Given the description of an element on the screen output the (x, y) to click on. 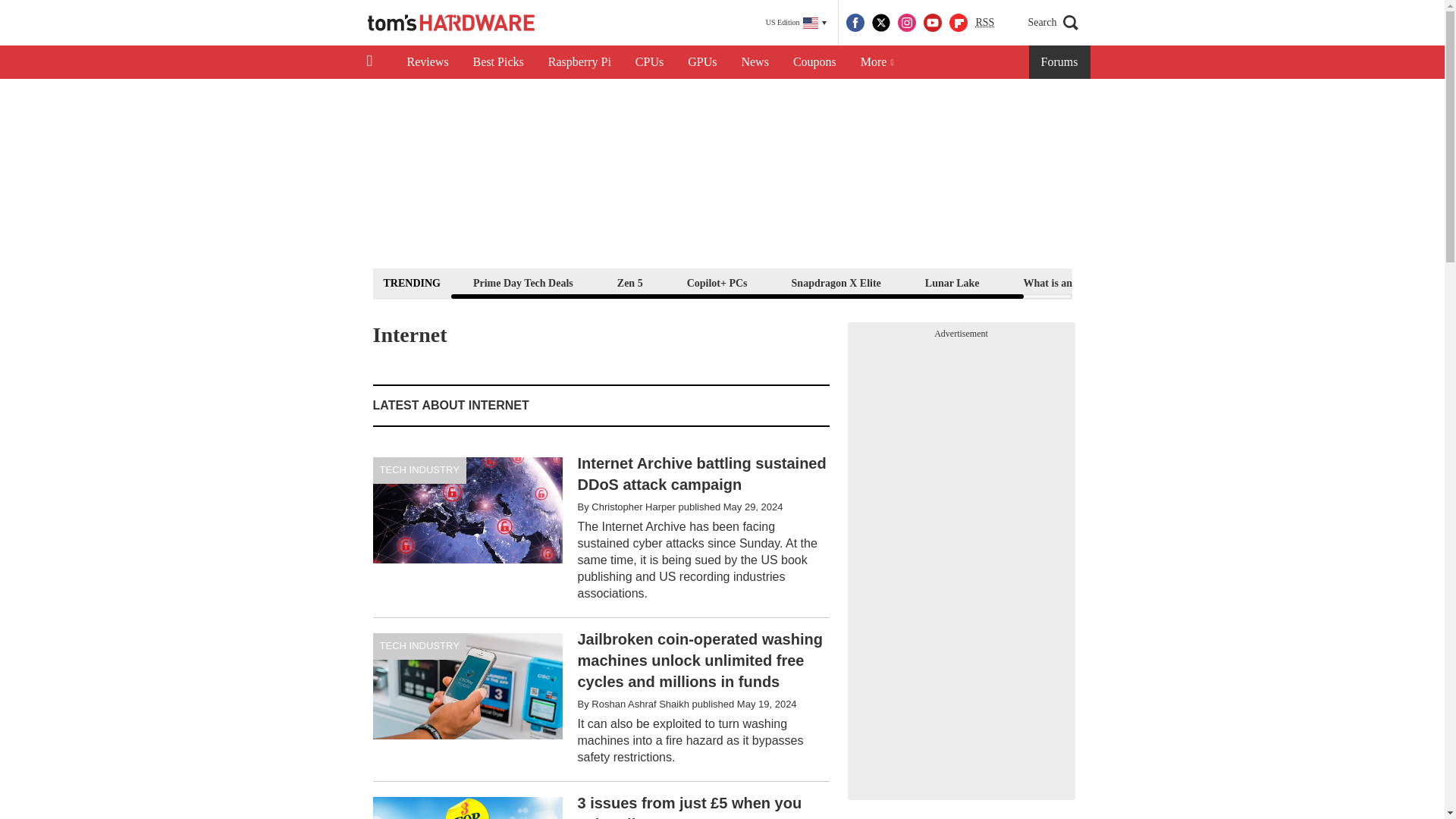
Reviews (427, 61)
CPUs (649, 61)
News (754, 61)
RSS (984, 22)
Best Picks (498, 61)
Coupons (814, 61)
Prime Day Tech Deals (522, 282)
Advertisement (600, 800)
Really Simple Syndication (984, 21)
Raspberry Pi (579, 61)
Forums (1059, 61)
GPUs (702, 61)
